Given the description of an element on the screen output the (x, y) to click on. 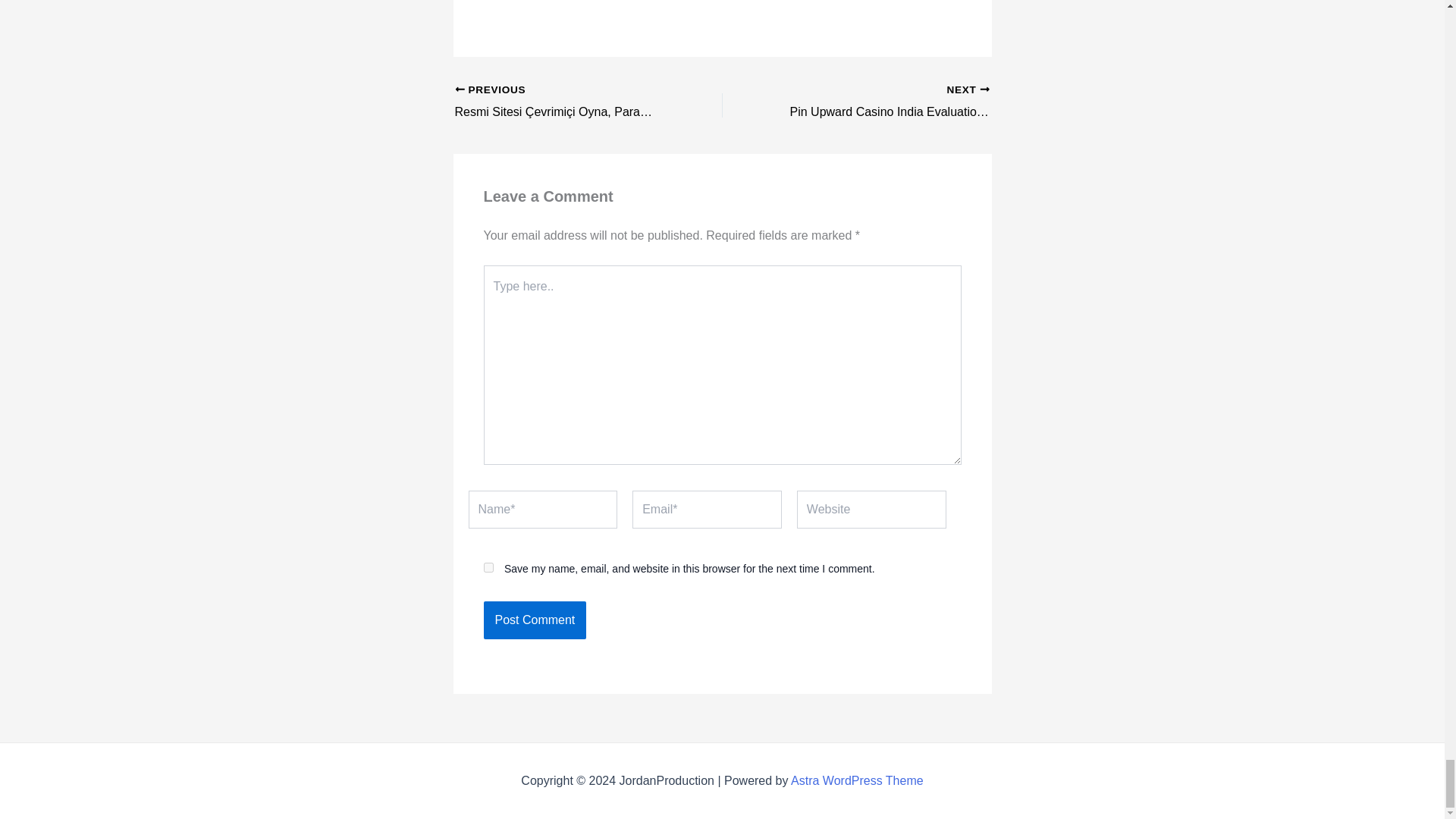
yes (488, 567)
Post Comment (534, 620)
